Given the description of an element on the screen output the (x, y) to click on. 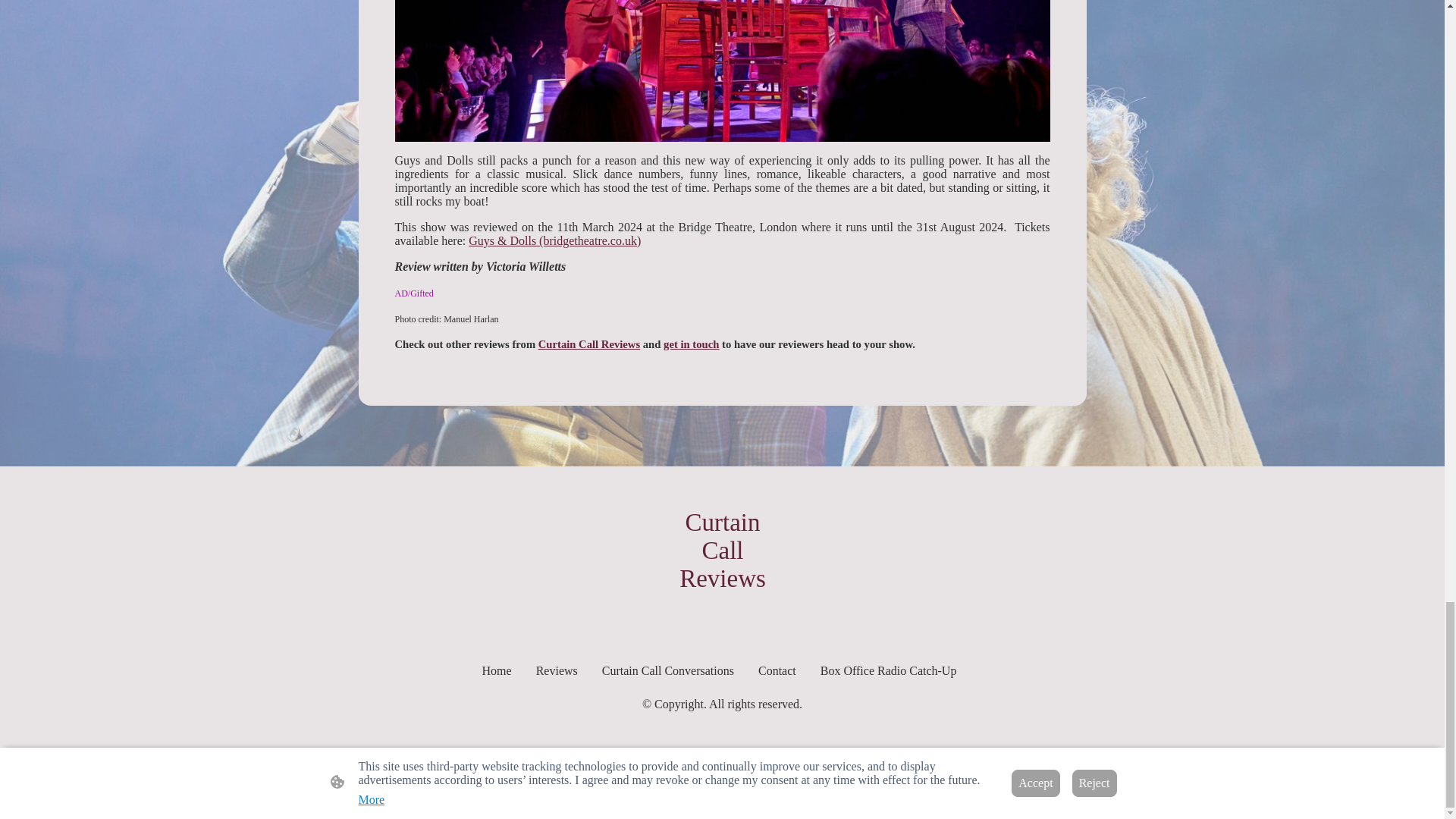
Curtain Call Conversations (667, 670)
Contact (777, 670)
Curtain Call Reviews (589, 343)
Curtain Call Reviews (721, 625)
Home (496, 670)
get in touch (691, 343)
Box Office Radio Catch-Up (887, 670)
Reviews (556, 670)
